Given the description of an element on the screen output the (x, y) to click on. 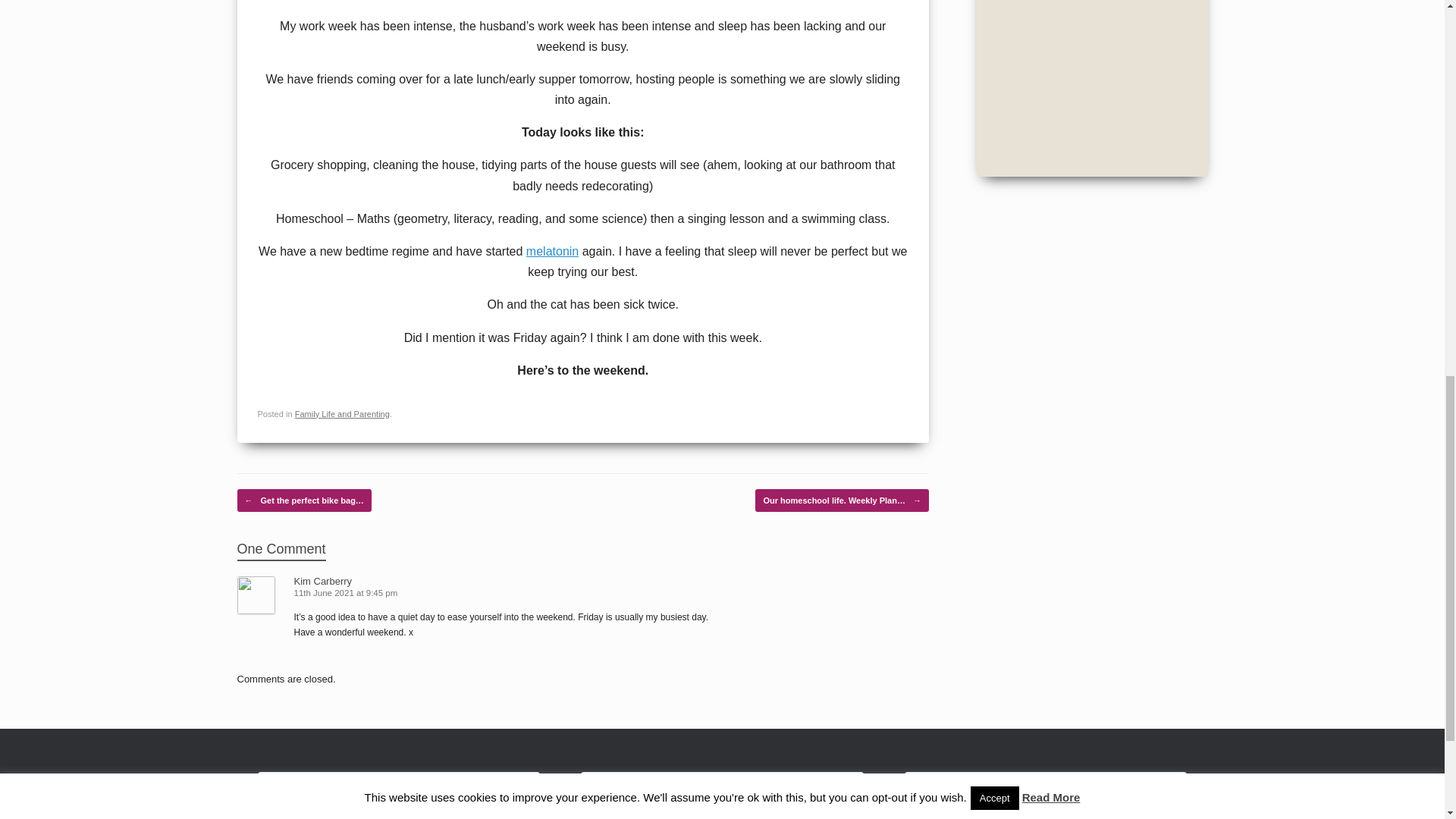
Family Life and Parenting (342, 413)
Kim Carberry (323, 581)
melatonin (551, 250)
11th June 2021 at 9:45 pm (347, 592)
